Given the description of an element on the screen output the (x, y) to click on. 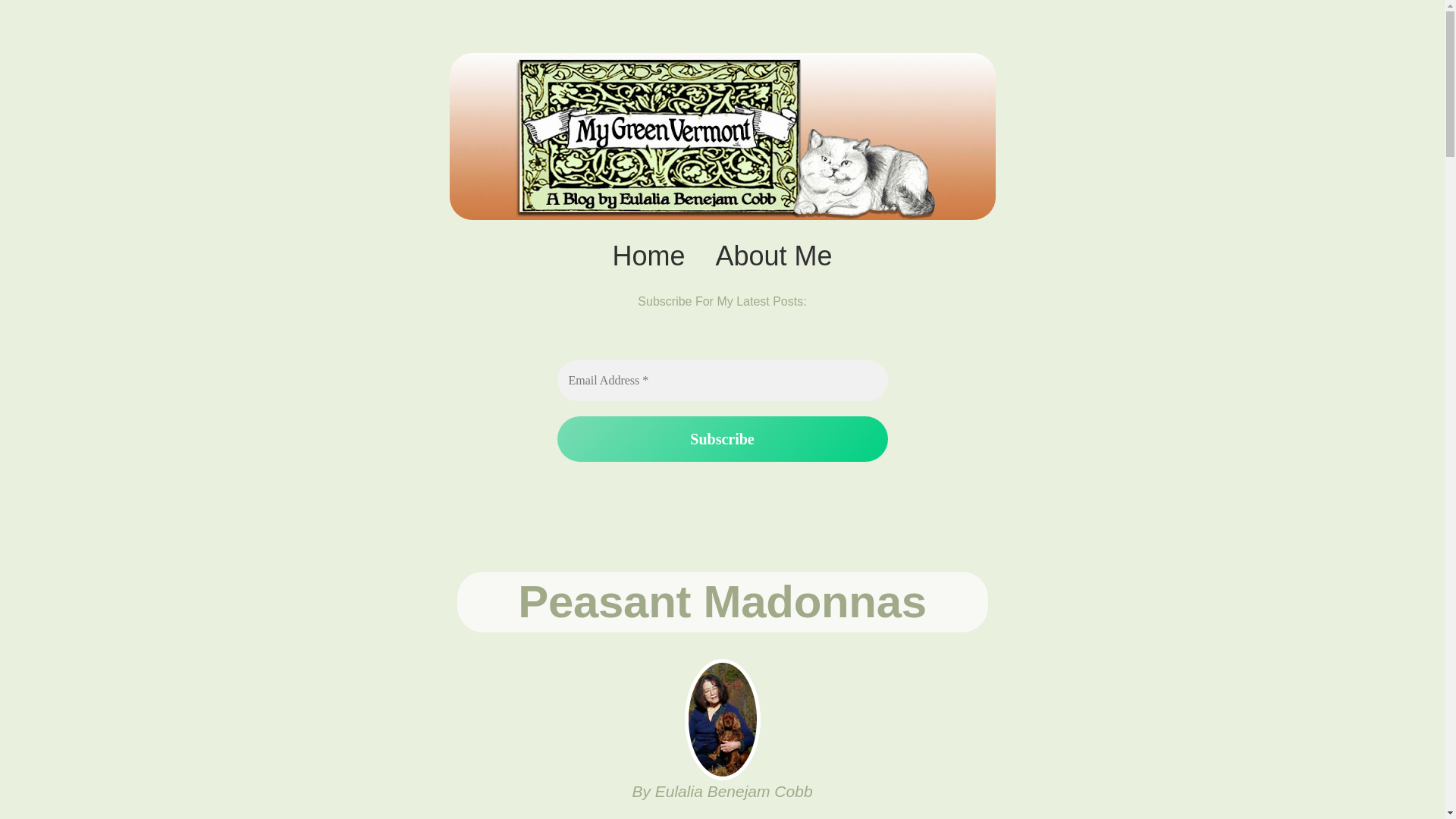
Subscribe (721, 438)
Home (648, 255)
Email Address (721, 380)
Subscribe (721, 438)
About Me (773, 255)
